Given the description of an element on the screen output the (x, y) to click on. 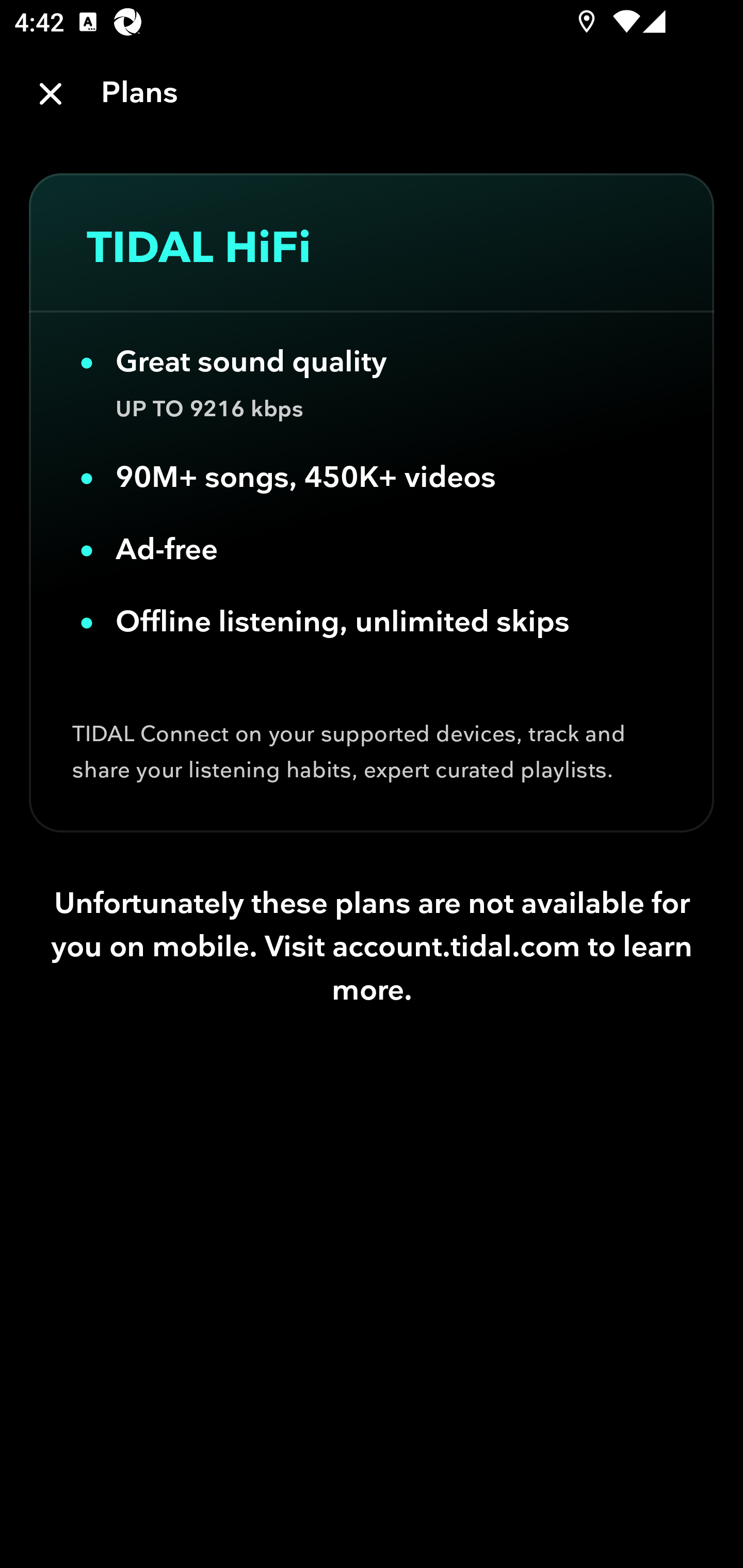
Close (50, 93)
